Given the description of an element on the screen output the (x, y) to click on. 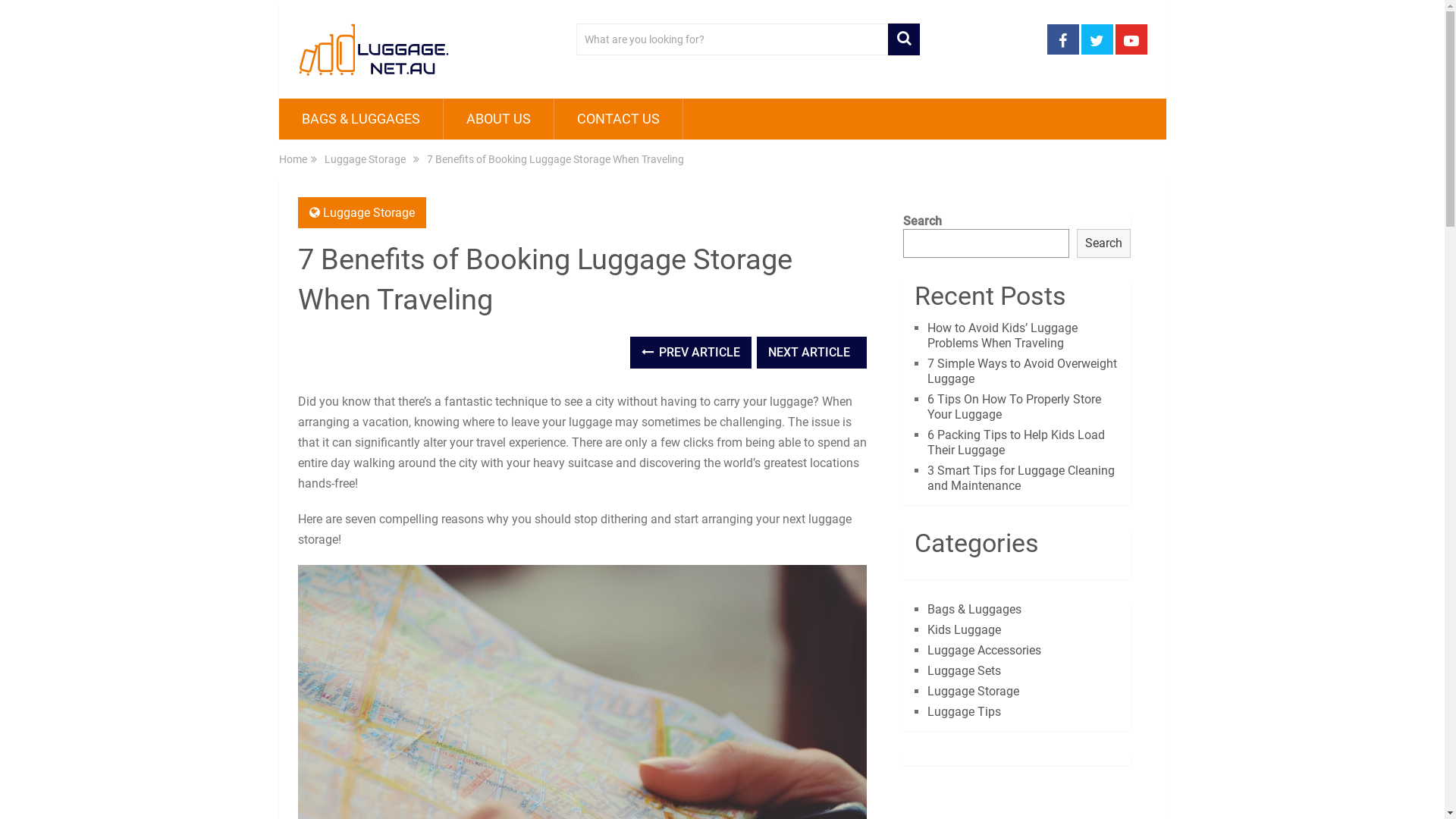
7 Simple Ways to Avoid Overweight Luggage Element type: text (1022, 370)
Luggage Storage Element type: text (364, 159)
Search Element type: text (1103, 243)
Luggage Accessories Element type: text (984, 650)
6 Tips On How To Properly Store Your Luggage Element type: text (1014, 406)
ABOUT US Element type: text (497, 118)
BAGS & LUGGAGES Element type: text (360, 118)
Luggage Storage Element type: text (973, 691)
Luggage Storage Element type: text (368, 212)
PREV ARTICLE Element type: text (690, 352)
Luggage Sets Element type: text (964, 670)
Luggage Tips Element type: text (964, 711)
6 Packing Tips to Help Kids Load Their Luggage Element type: text (1015, 442)
Bags & Luggages Element type: text (974, 609)
Home Element type: text (293, 159)
CONTACT US Element type: text (617, 118)
Kids Luggage Element type: text (964, 629)
NEXT ARTICLE Element type: text (811, 352)
3 Smart Tips for Luggage Cleaning and Maintenance Element type: text (1020, 477)
